Given the description of an element on the screen output the (x, y) to click on. 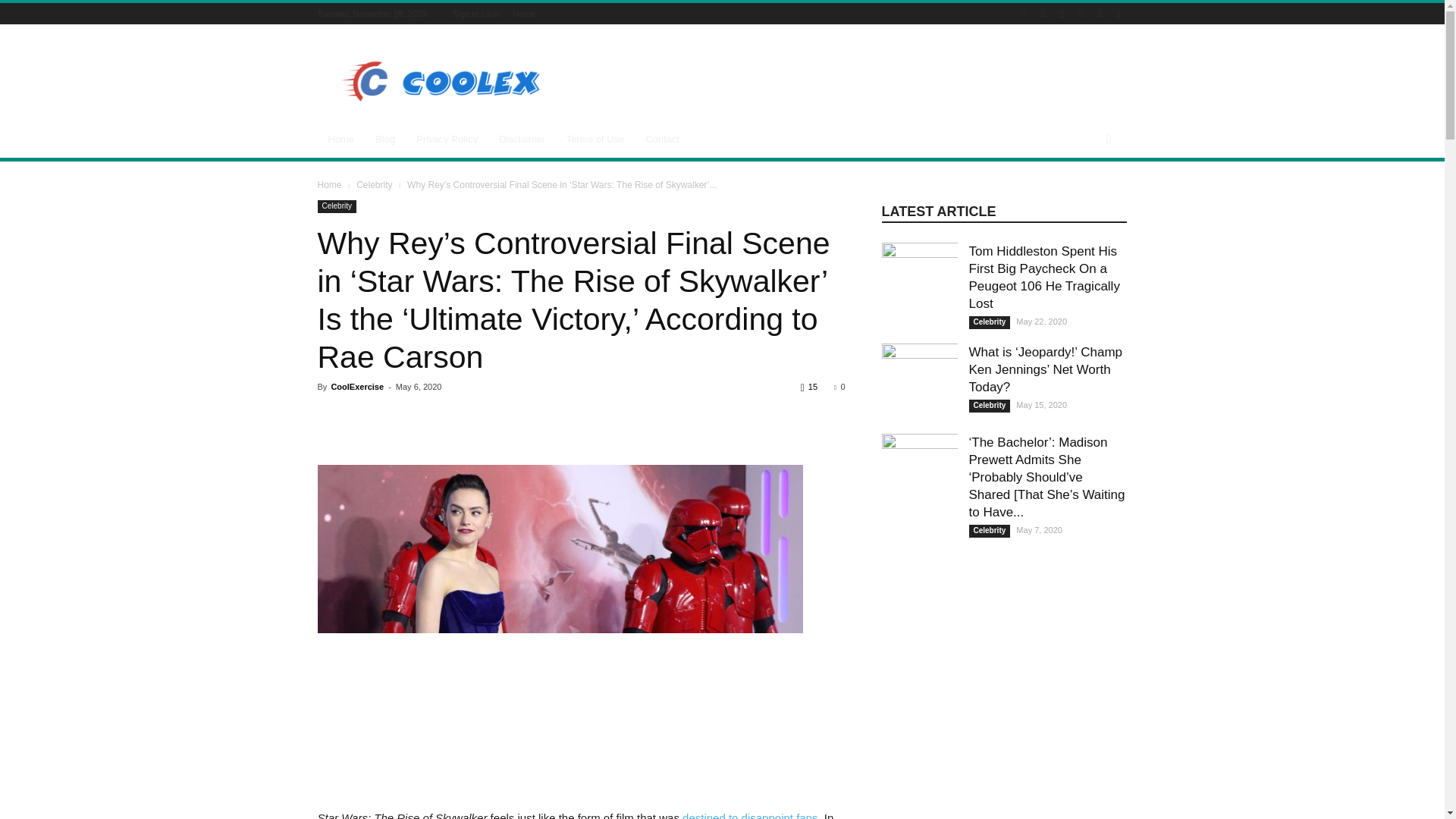
Privacy Policy (446, 139)
Home (341, 139)
Terms of Use (595, 139)
View all posts in Celebrity (373, 184)
Blog (385, 139)
Home (523, 13)
Disclaimer (521, 139)
